Given the description of an element on the screen output the (x, y) to click on. 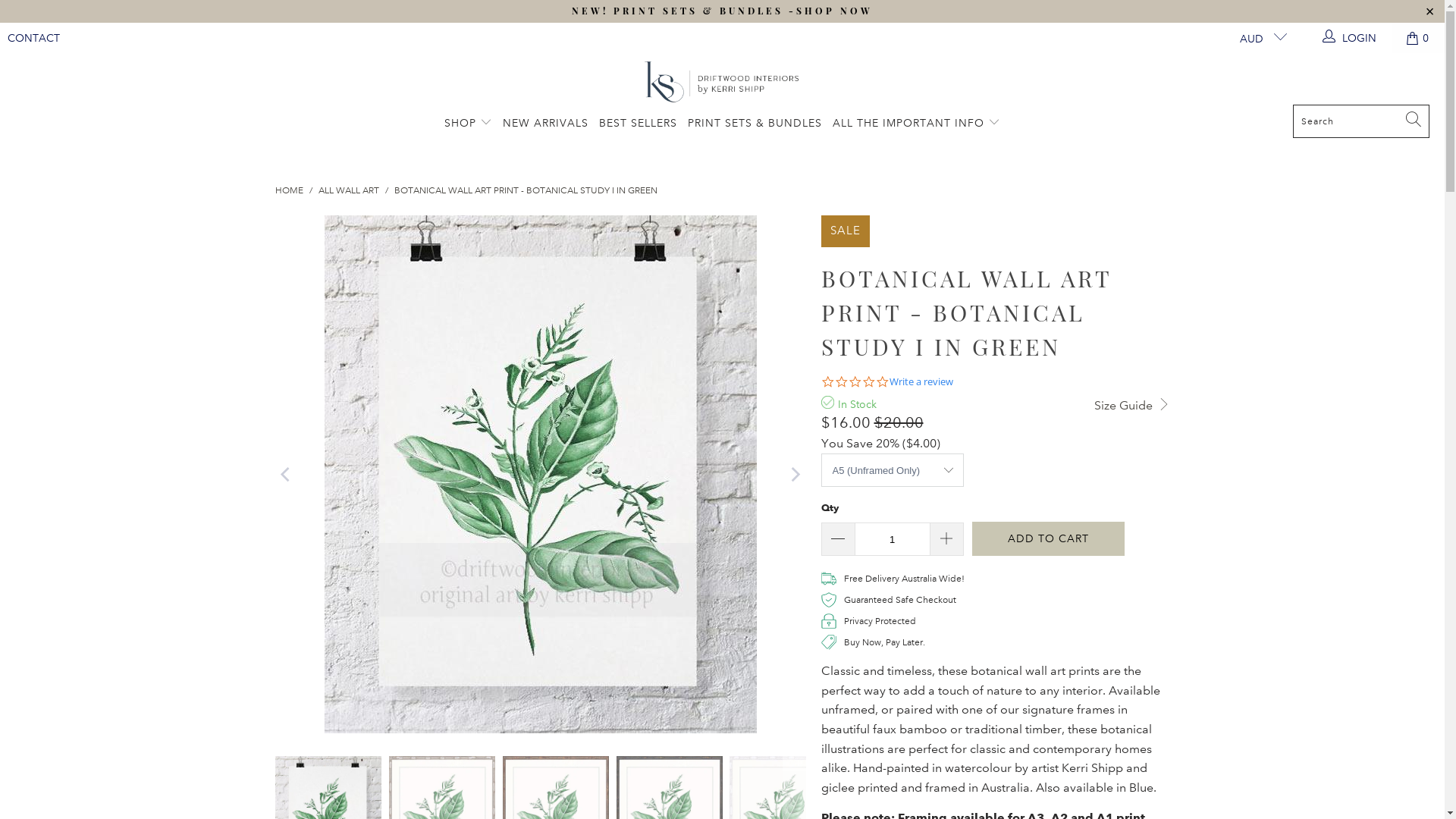
ALL WALL ART Element type: text (348, 190)
NEW ARRIVALS Element type: text (545, 123)
LOGIN Element type: text (1350, 37)
SHOP NOW Element type: text (834, 10)
Write a review Element type: text (920, 382)
PRINT SETS & BUNDLES Element type: text (754, 123)
CONTACT Element type: text (33, 37)
BEST SELLERS Element type: text (638, 123)
ADD TO CART Element type: text (1048, 538)
HOME Element type: text (288, 190)
AUD Element type: text (1257, 37)
BOTANICAL WALL ART PRINT - BOTANICAL STUDY I IN GREEN Element type: text (525, 190)
0 Element type: text (1417, 37)
SHOP Element type: text (468, 123)
ALL THE IMPORTANT INFO Element type: text (916, 123)
Driftwood Interiors Element type: hover (722, 82)
